Given the description of an element on the screen output the (x, y) to click on. 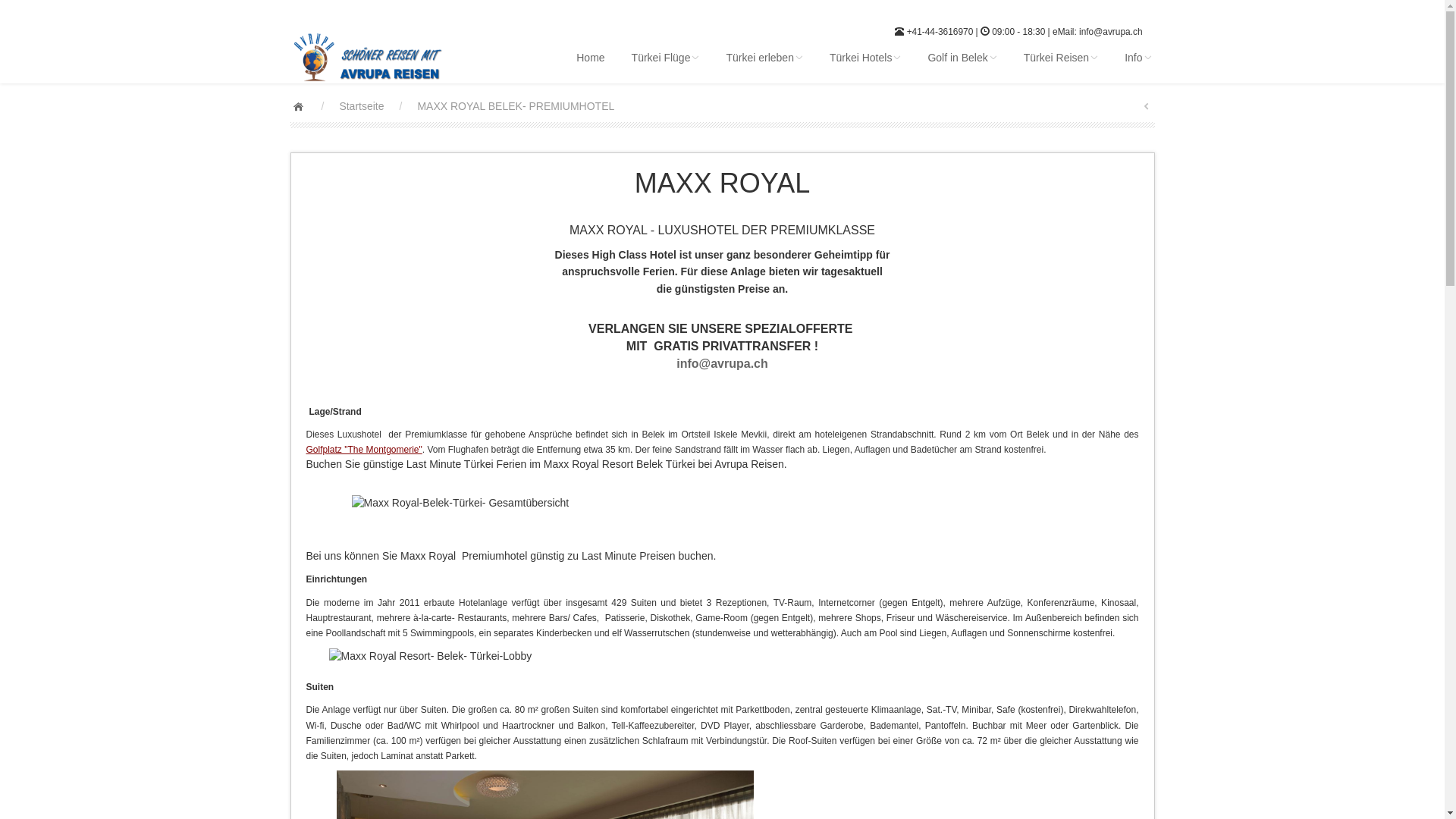
Golf in Belek Element type: text (960, 57)
info@avrupa.ch Element type: text (722, 363)
MAXX ROYAL BELEK- PREMIUMHOTEL Element type: text (515, 106)
Home Element type: text (588, 57)
Golfplatz "The Montgomerie" Element type: text (364, 449)
Info Element type: text (1136, 57)
Startseite Element type: text (360, 106)
Hotel Maxx Royal Resort in  Belek- Lobby Element type: hover (430, 655)
